Given the description of an element on the screen output the (x, y) to click on. 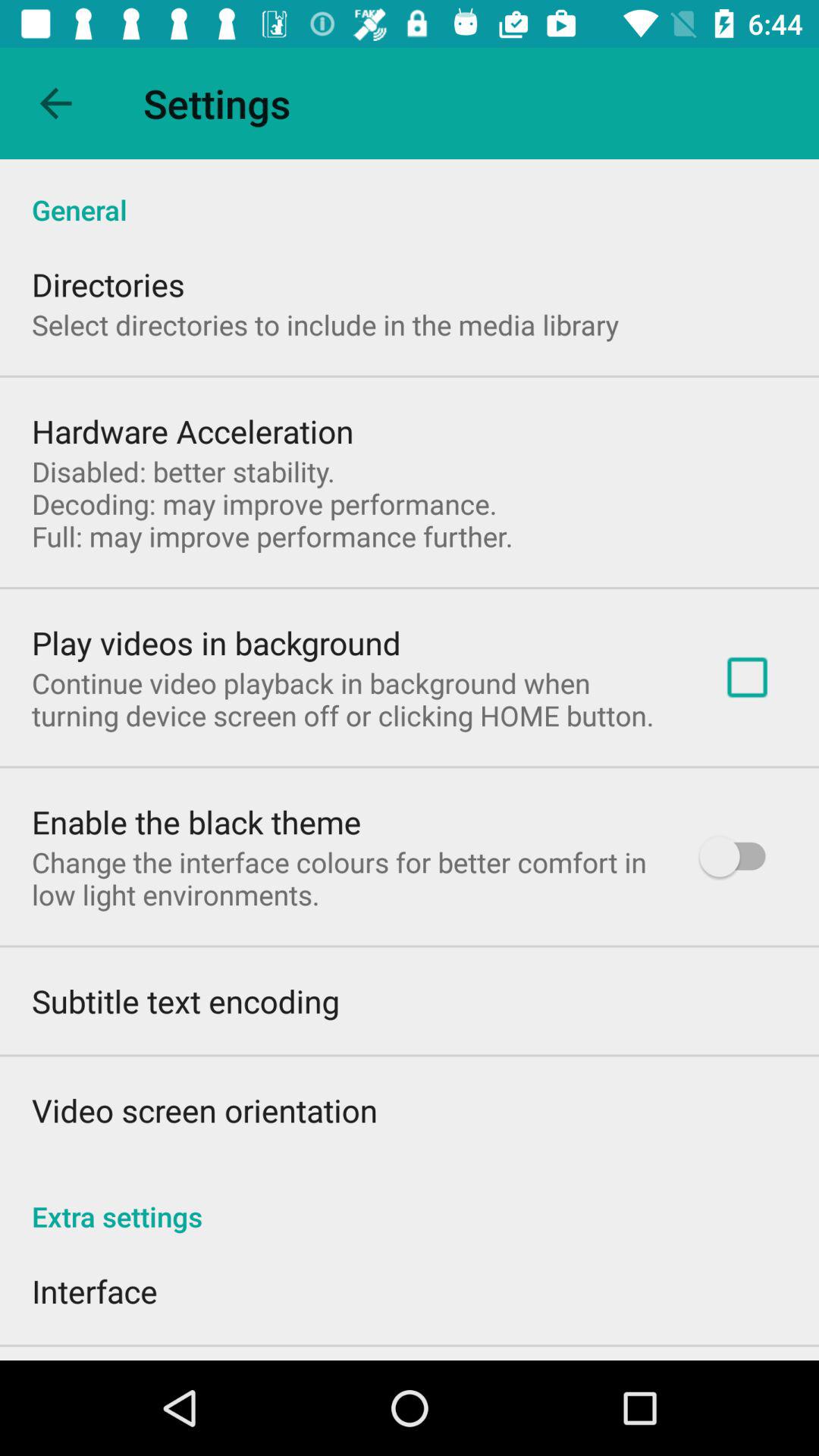
open the item to the right of the continue video playback icon (747, 677)
